Given the description of an element on the screen output the (x, y) to click on. 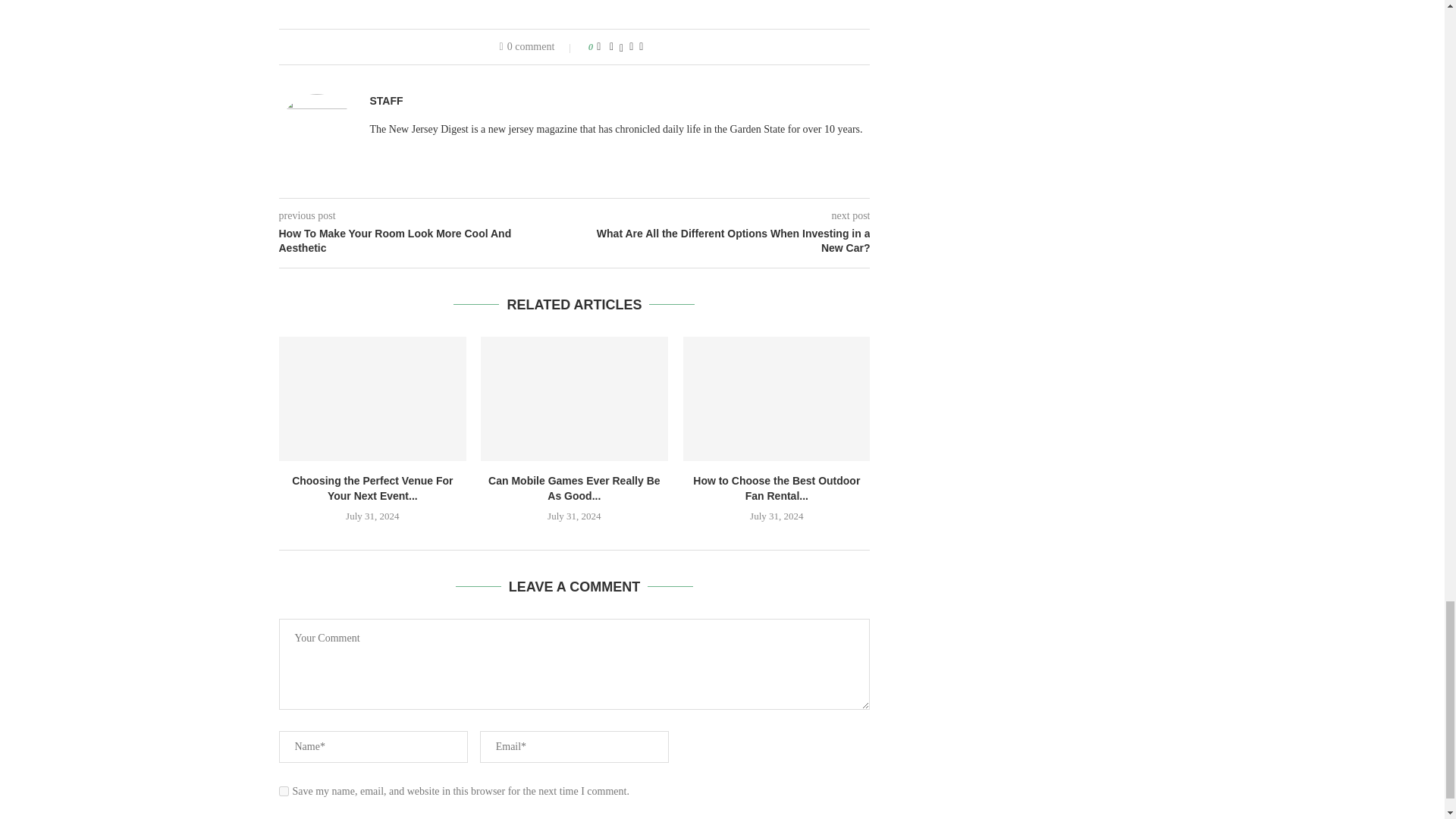
How to Choose the Best Outdoor Fan Rental for Your Event (776, 398)
yes (283, 791)
Can Mobile Games Ever Really Be As Good As Video Games? (574, 398)
Choosing the Perfect Venue For Your Next Event in Chicago (372, 398)
Author Staff (386, 101)
